Given the description of an element on the screen output the (x, y) to click on. 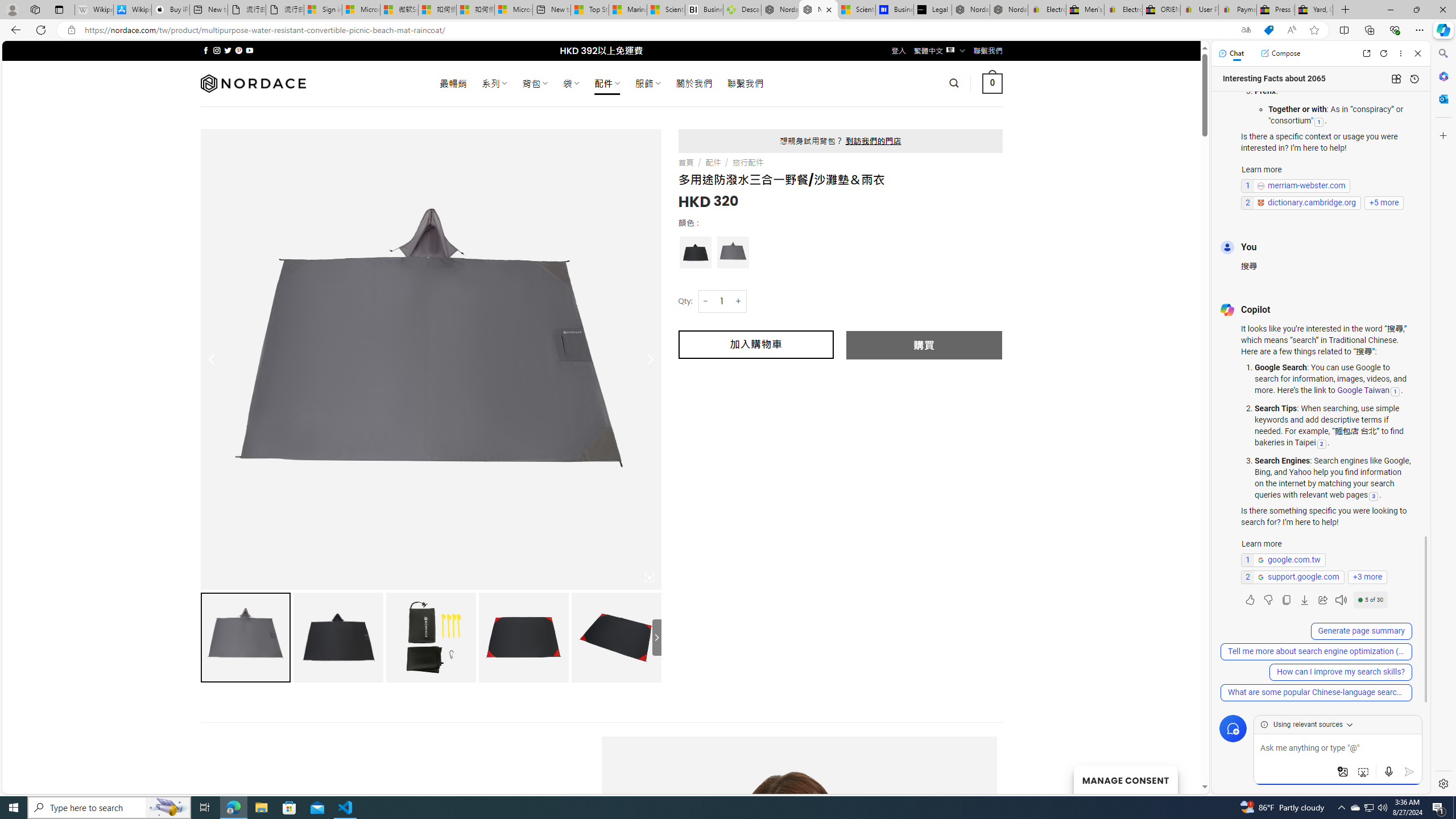
Sign in to your Microsoft account (322, 9)
Buy iPad - Apple (171, 9)
Descarga Driver Updater (741, 9)
